Given the description of an element on the screen output the (x, y) to click on. 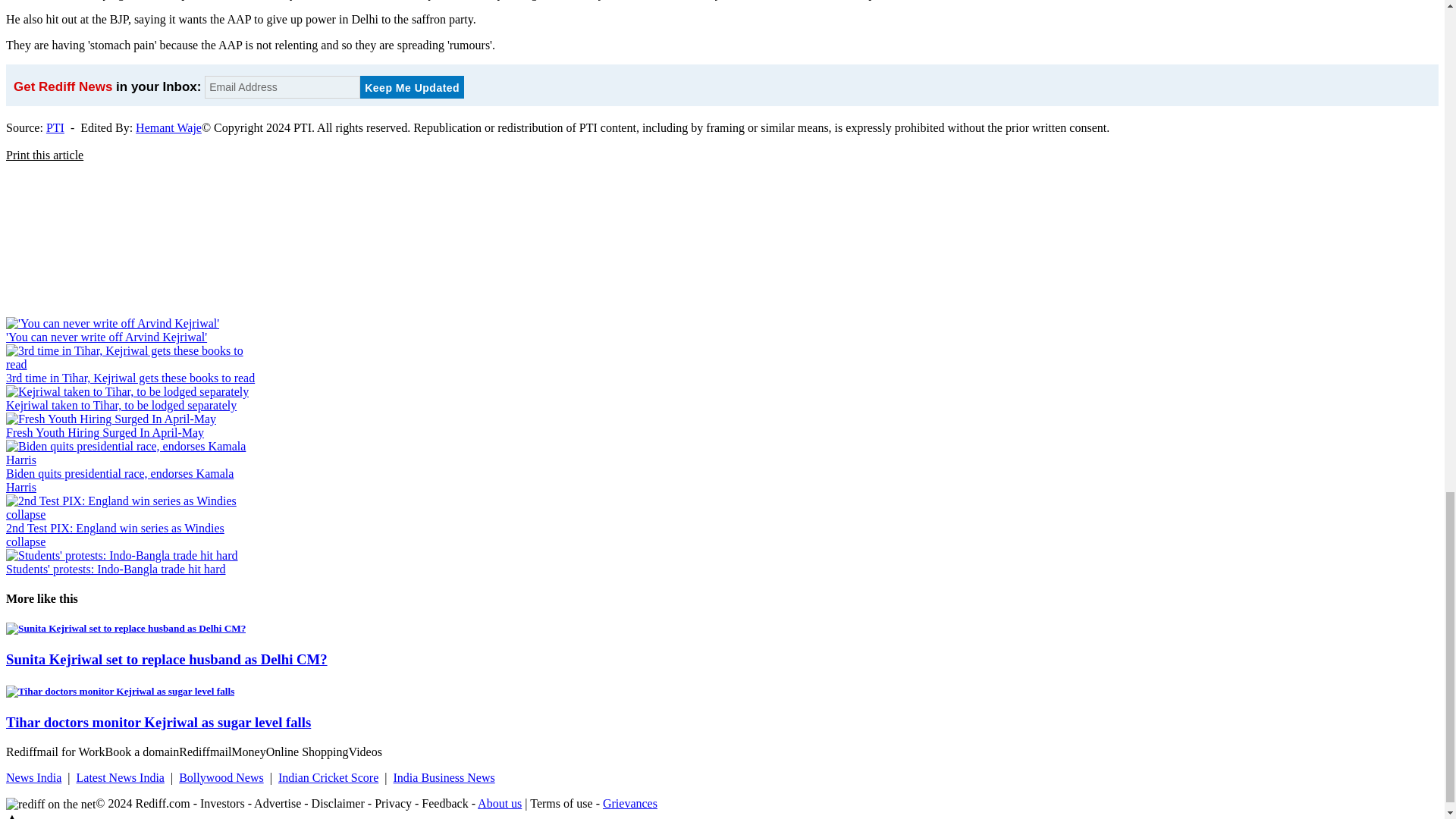
2nd Test PIX: England win series as Windies collapse (114, 534)
Students' protests: Indo-Bangla trade hit hard (115, 568)
3rd time in Tihar, Kejriwal gets these books to read (129, 377)
News India (33, 777)
Kejriwal taken to Tihar, to be lodged separately (120, 404)
Biden quits presidential race, endorses Kamala Harris (118, 479)
'You can never write off Arvind Kejriwal' (105, 336)
3rd time in Tihar, Kejriwal gets these books to read (129, 377)
Bollywood News (221, 777)
Email Address (282, 87)
2nd Test PIX: England win series as Windies collapse (114, 534)
Fresh Youth Hiring Surged In April-May (104, 431)
Kejriwal taken to Tihar, to be lodged separately (120, 404)
Latest News India (120, 777)
'You can never write off Arvind Kejriwal' (105, 336)
